Given the description of an element on the screen output the (x, y) to click on. 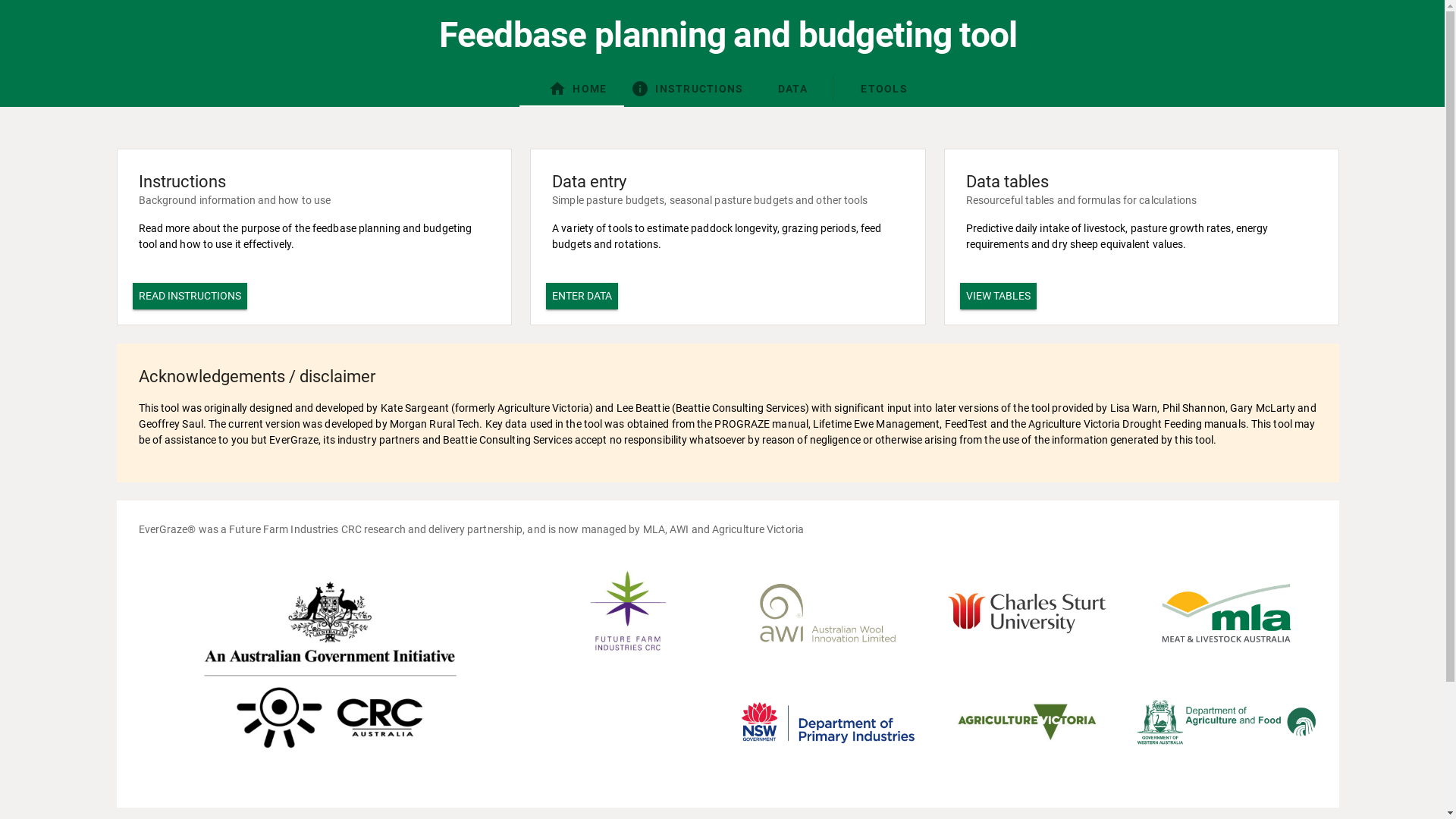
READ INSTRUCTIONS Element type: text (189, 295)
DATA Element type: text (789, 88)
ENTER DATA Element type: text (582, 295)
info
INSTRUCTIONS Element type: text (686, 88)
VIEW TABLES Element type: text (998, 295)
home
HOME Element type: text (577, 88)
